Given the description of an element on the screen output the (x, y) to click on. 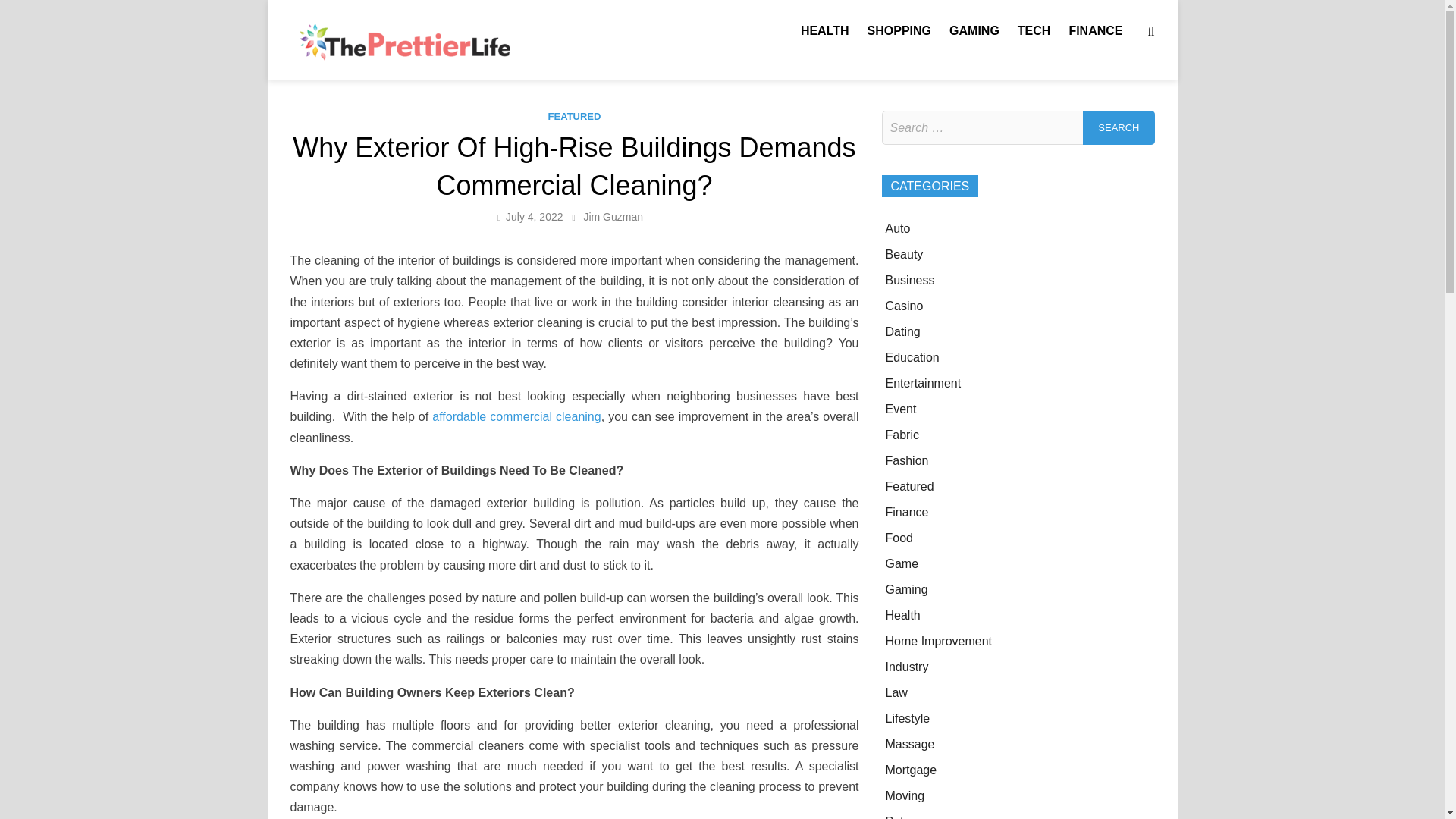
Finance (906, 512)
Event (901, 408)
Search (1118, 127)
Massage (909, 744)
Industry (906, 666)
Mortgage (911, 769)
Lifestyle (907, 717)
Auto (898, 228)
affordable commercial cleaning (515, 416)
Education (912, 357)
